Given the description of an element on the screen output the (x, y) to click on. 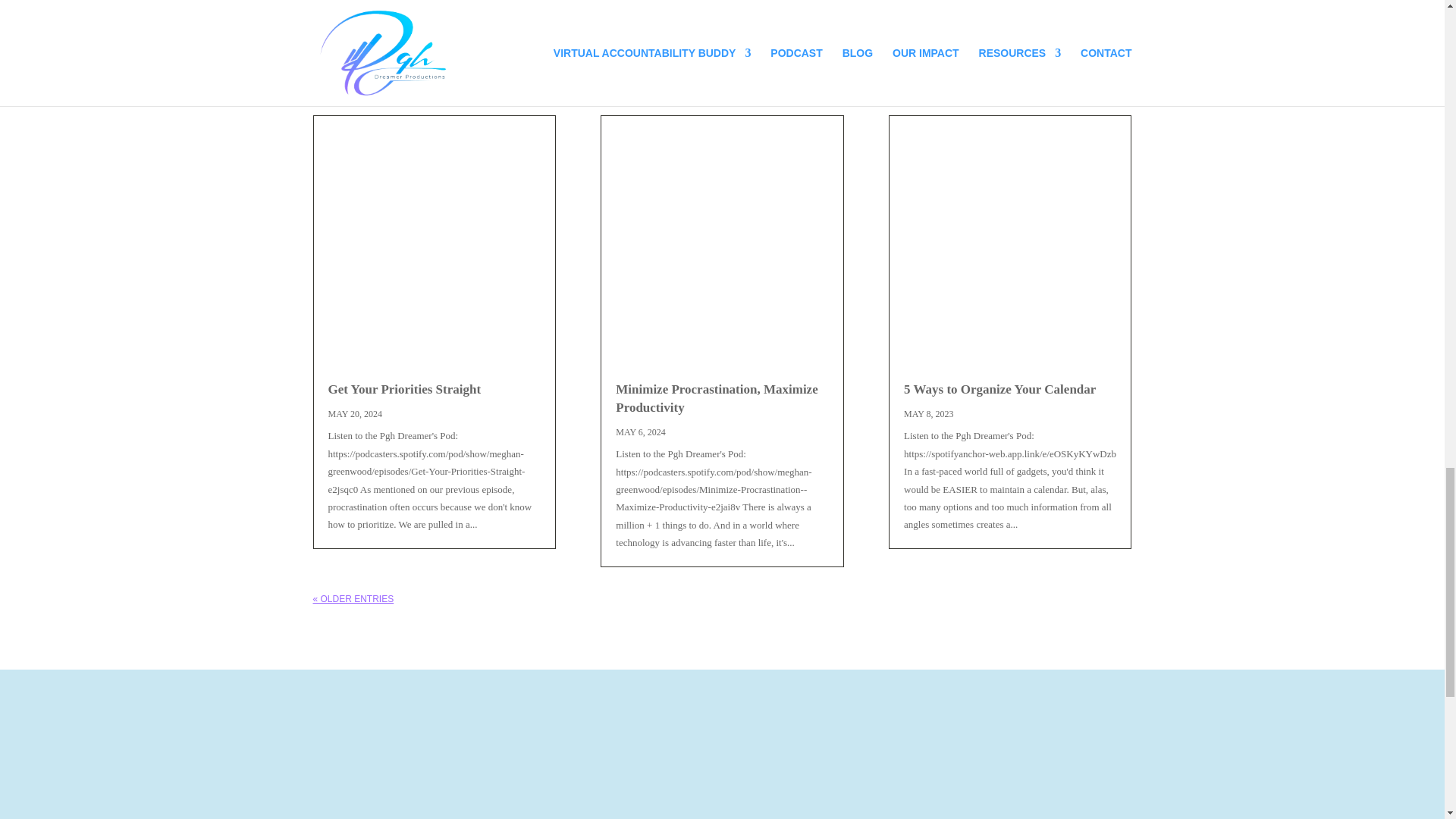
Minimize Procrastination, Maximize Productivity (715, 398)
5 Ways to Organize Your Calendar (1000, 389)
Get Your Priorities Straight (403, 389)
